Given the description of an element on the screen output the (x, y) to click on. 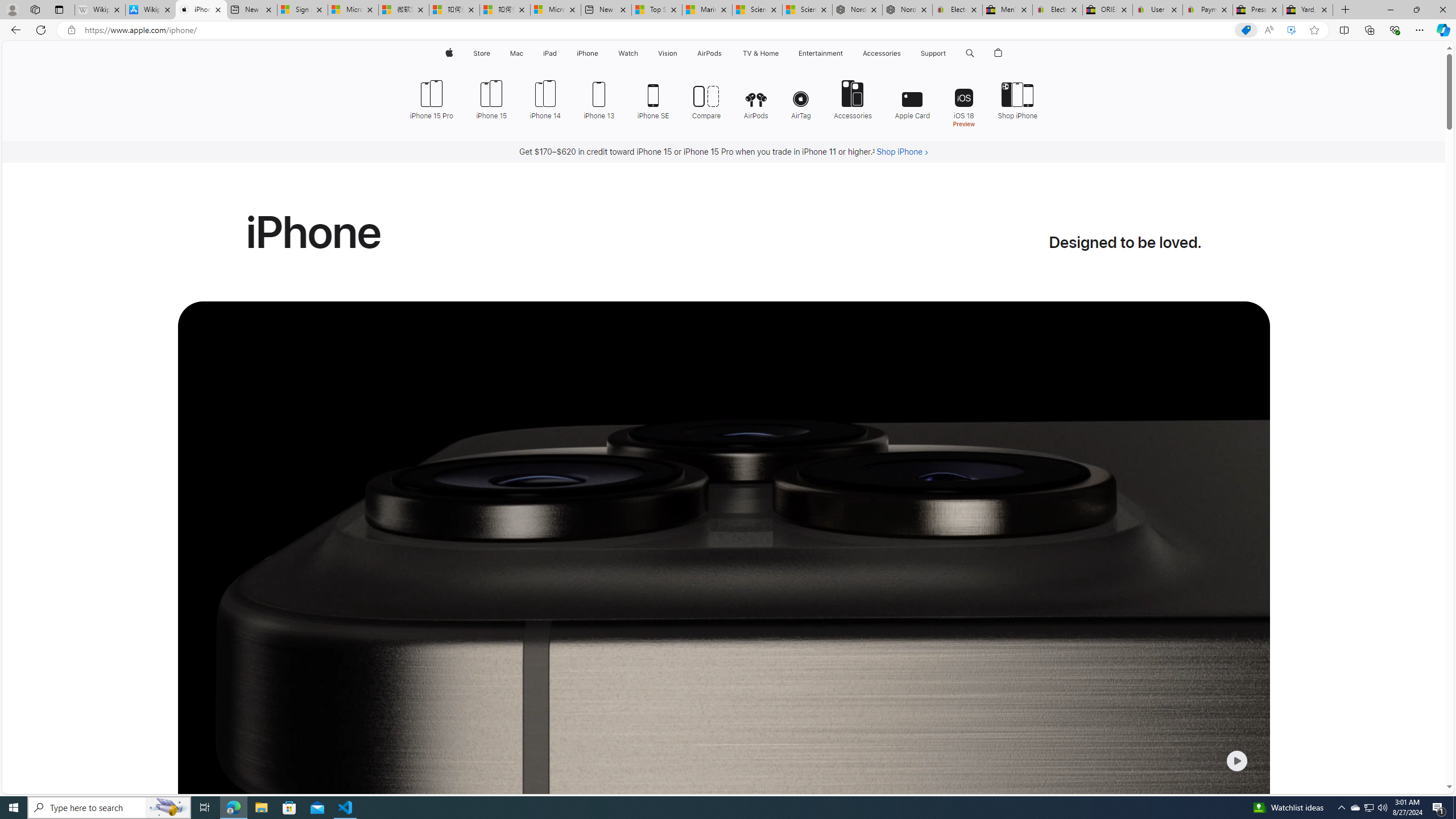
Support (932, 53)
AirPods menu (723, 53)
Vision (667, 53)
Watch menu (640, 53)
iPhone menu (600, 53)
iPhone - Apple (201, 9)
User Privacy Notice | eBay (1158, 9)
Shopping Bag (998, 53)
Accessories (853, 98)
